Given the description of an element on the screen output the (x, y) to click on. 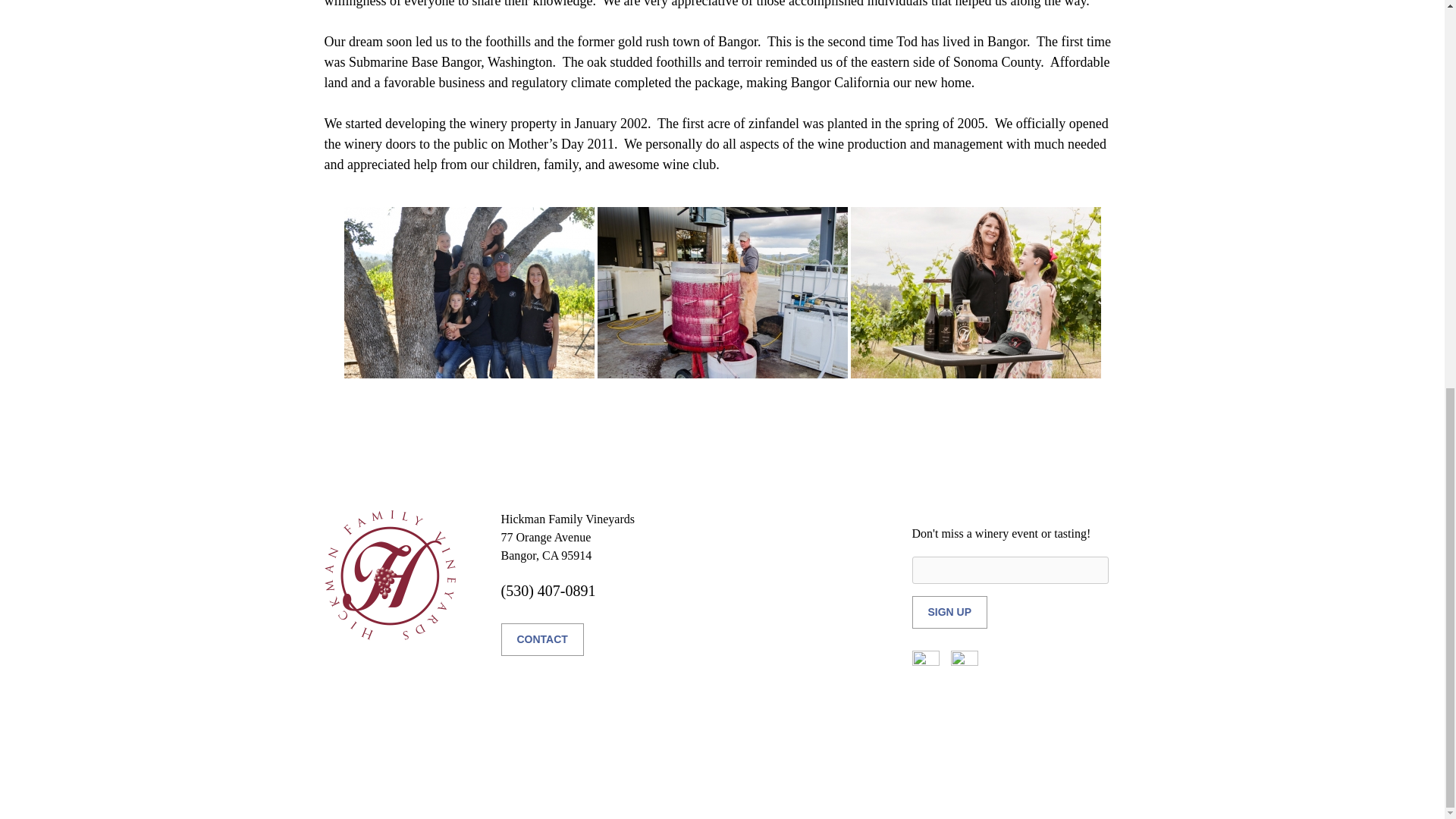
Sign Up (949, 612)
ourstory1 (468, 292)
CONTACT (541, 639)
ourstory3 (975, 292)
Login (872, 761)
Winter Street Design (807, 761)
ourstory2 (721, 292)
Sign Up (949, 612)
